Given the description of an element on the screen output the (x, y) to click on. 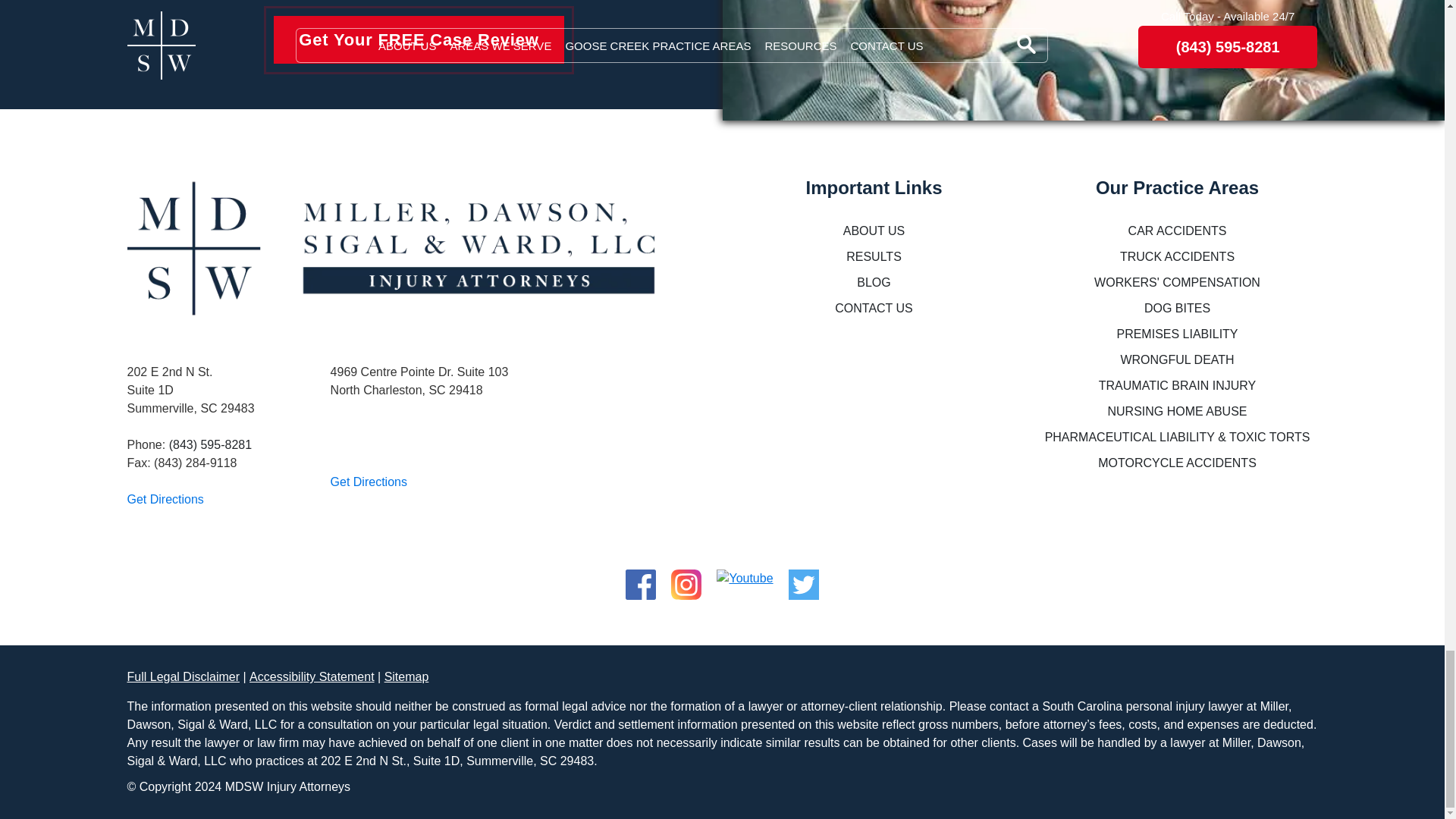
Facebook (641, 577)
Twitter (803, 577)
Instagram (686, 577)
Youtube (744, 577)
phone (209, 444)
